Given the description of an element on the screen output the (x, y) to click on. 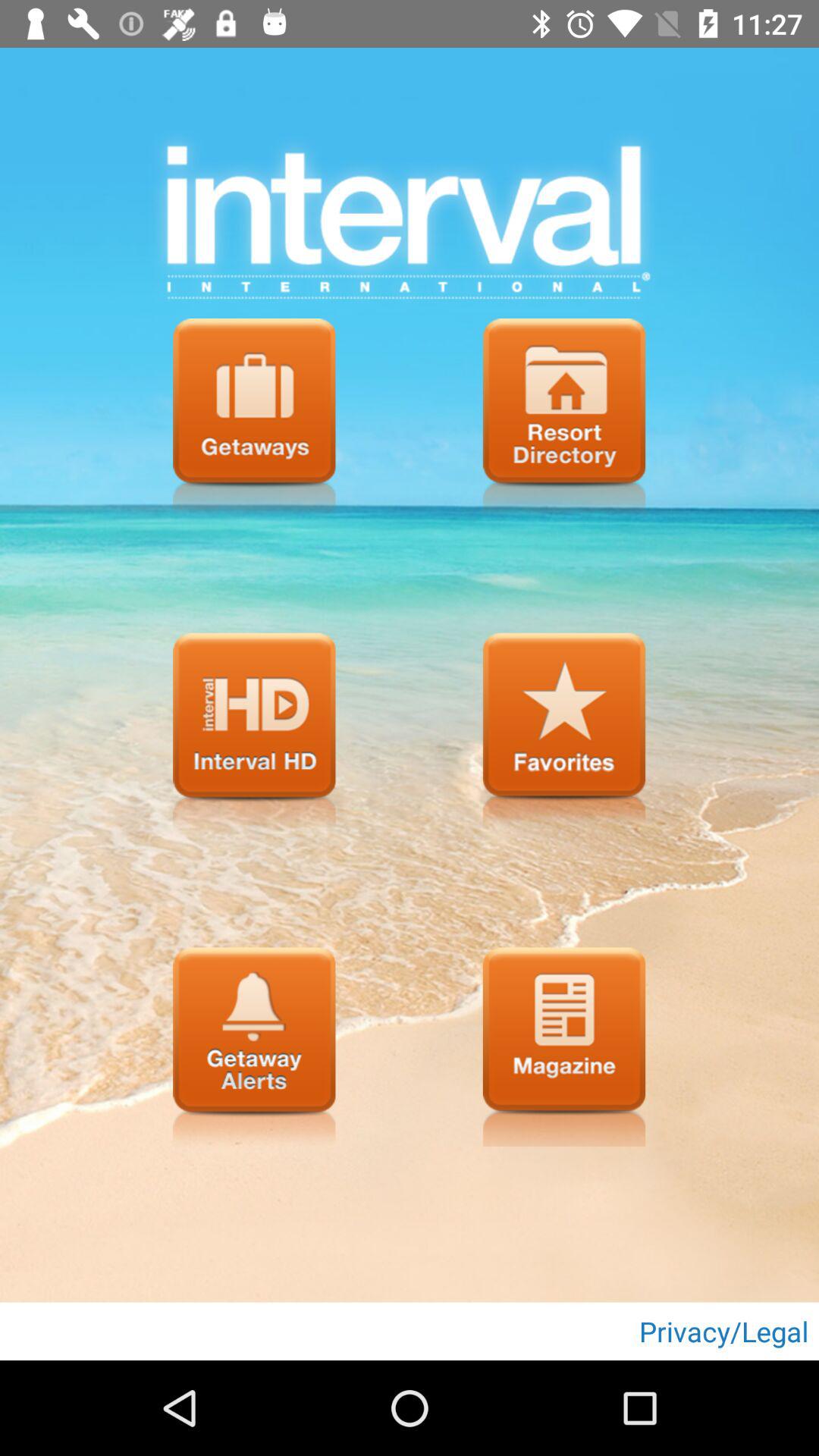
menu page (253, 417)
